Given the description of an element on the screen output the (x, y) to click on. 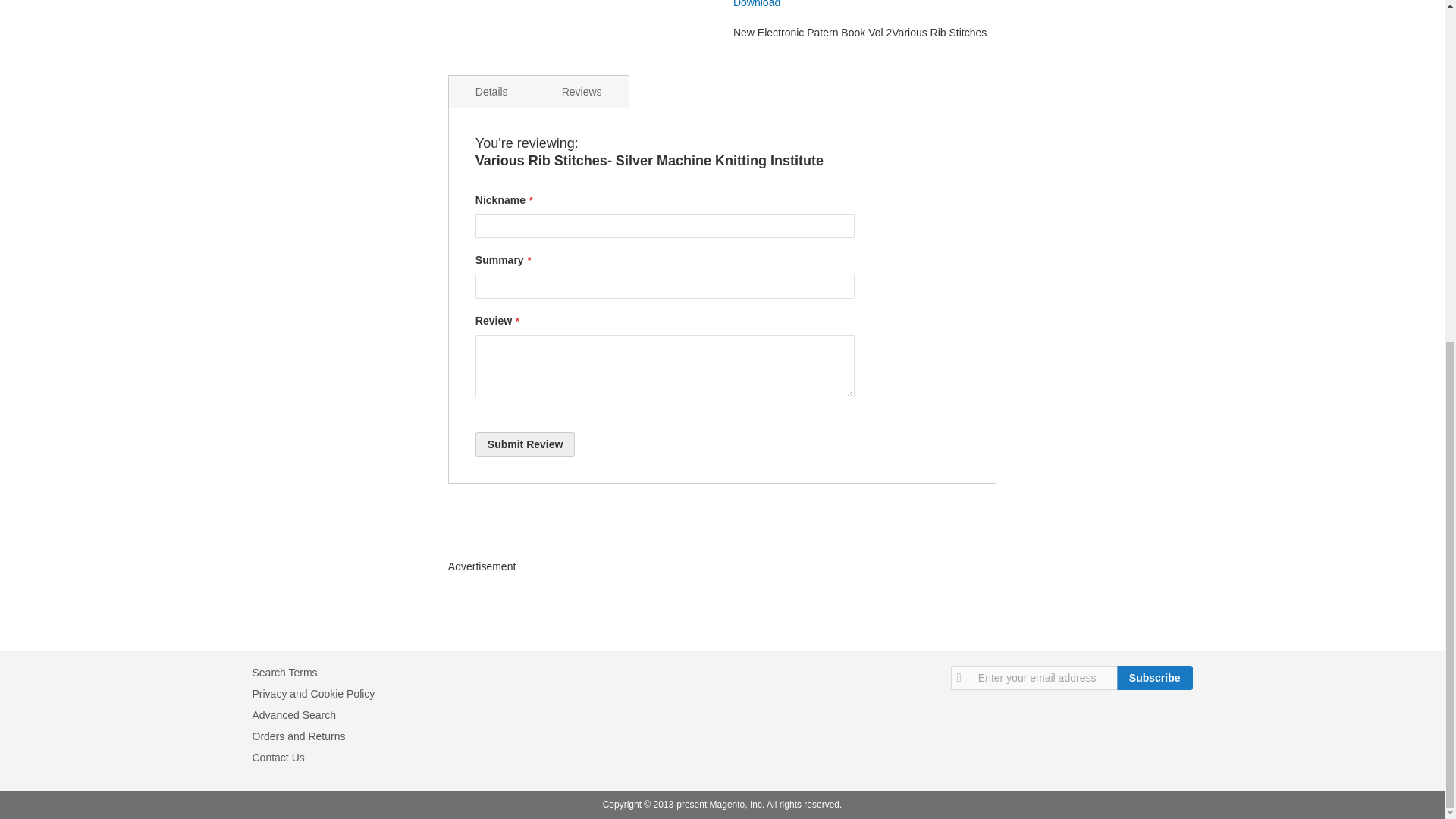
Subscribe (1154, 677)
